Given the description of an element on the screen output the (x, y) to click on. 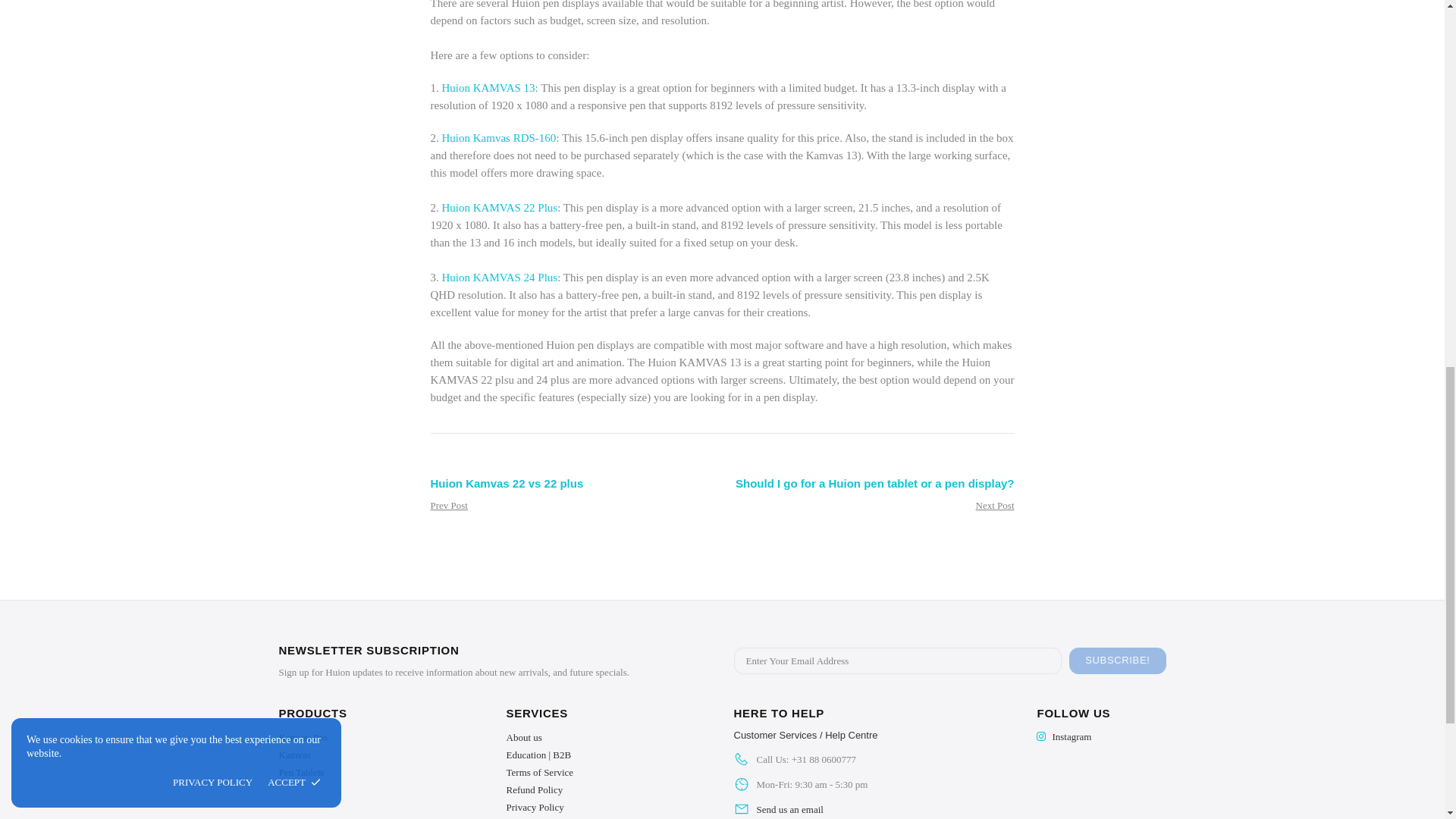
SUBSCRIBE! (1117, 660)
Huion Europe Support (805, 735)
